Given the description of an element on the screen output the (x, y) to click on. 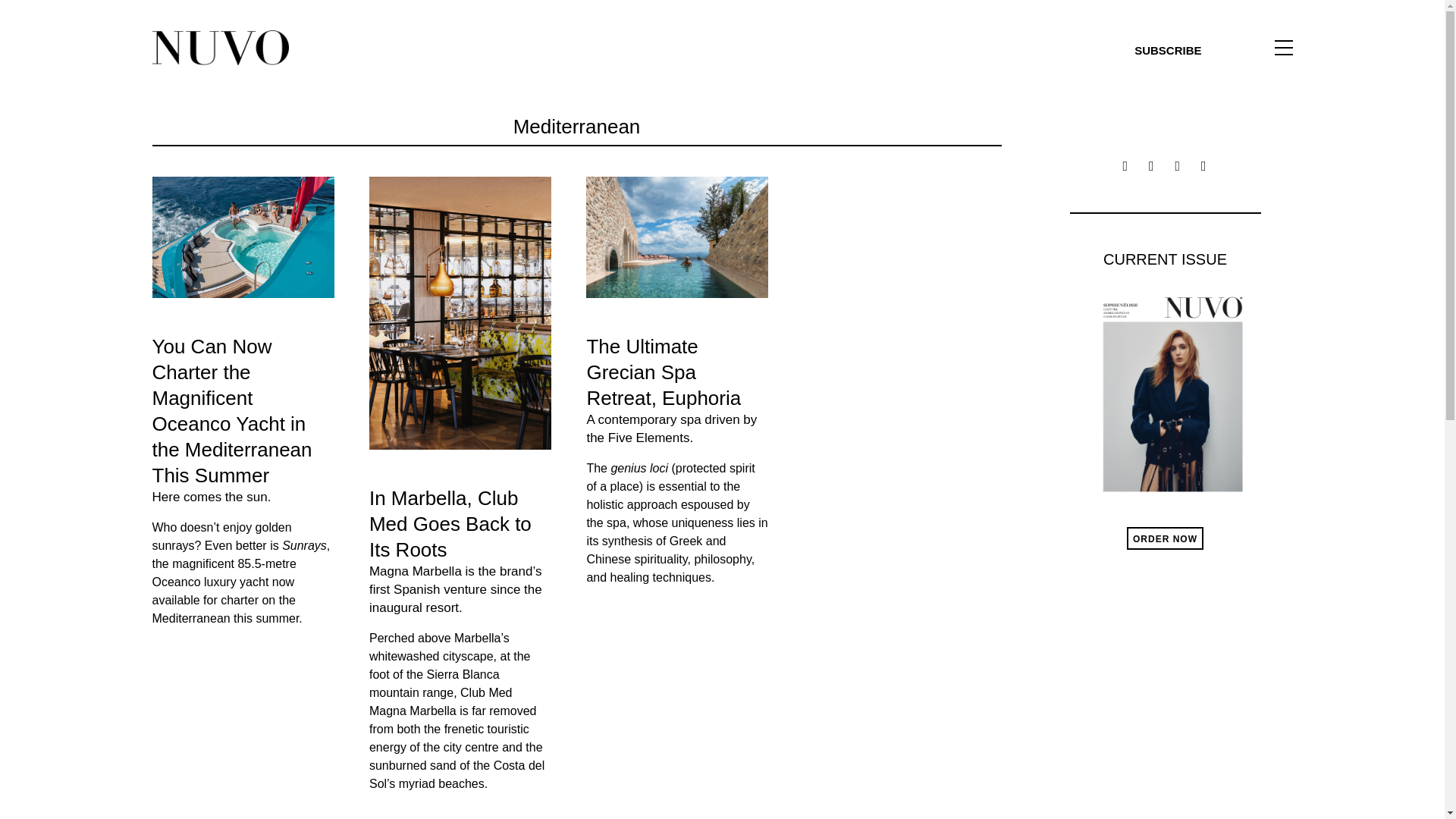
Facebook (1125, 164)
SUBSCRIBE (1167, 50)
Twitter (1150, 164)
